Given the description of an element on the screen output the (x, y) to click on. 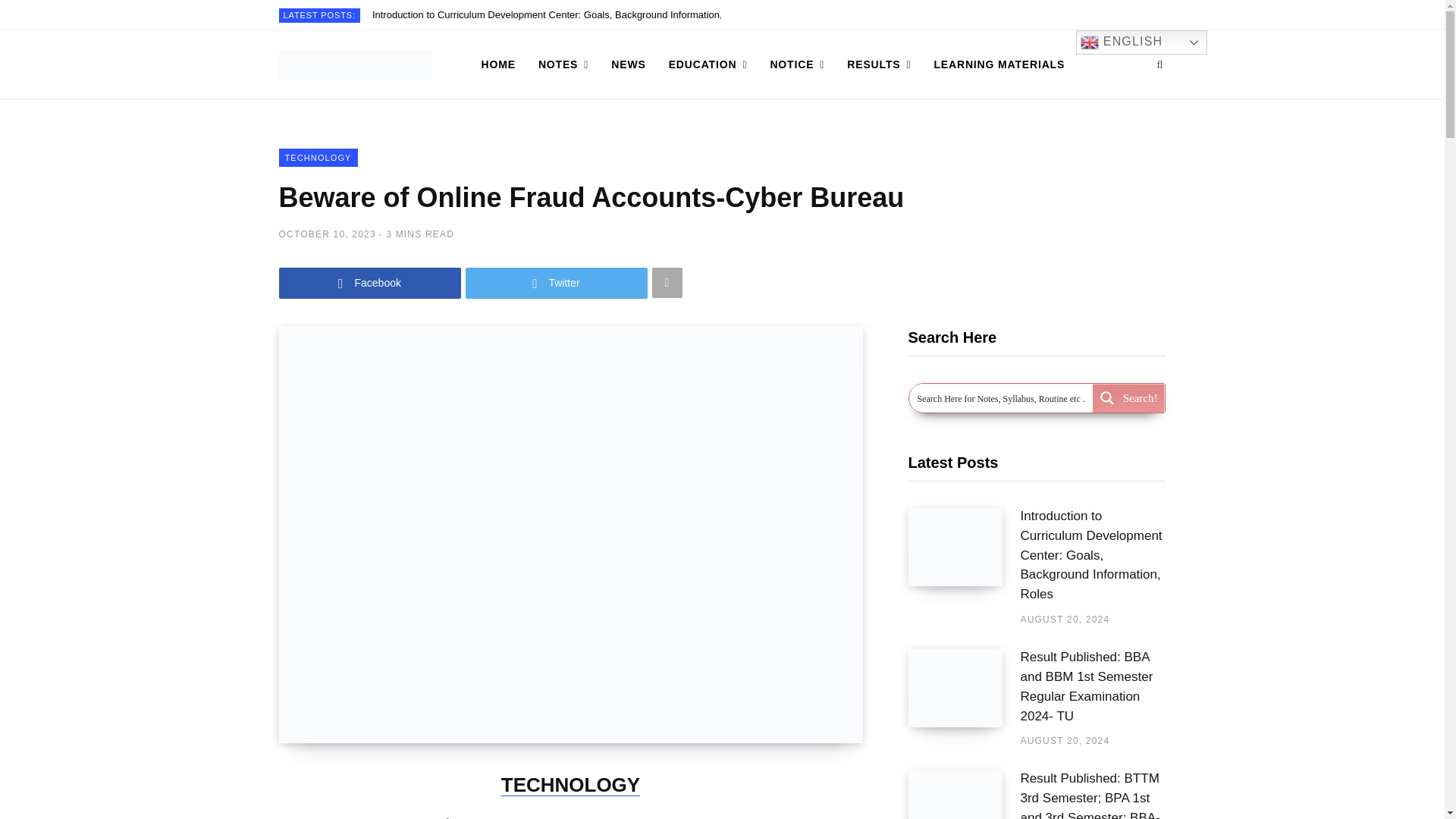
NOTES (563, 64)
Facebook (370, 282)
Gurubaa (355, 64)
EDUCATION (708, 64)
NOTICE (796, 64)
